Given the description of an element on the screen output the (x, y) to click on. 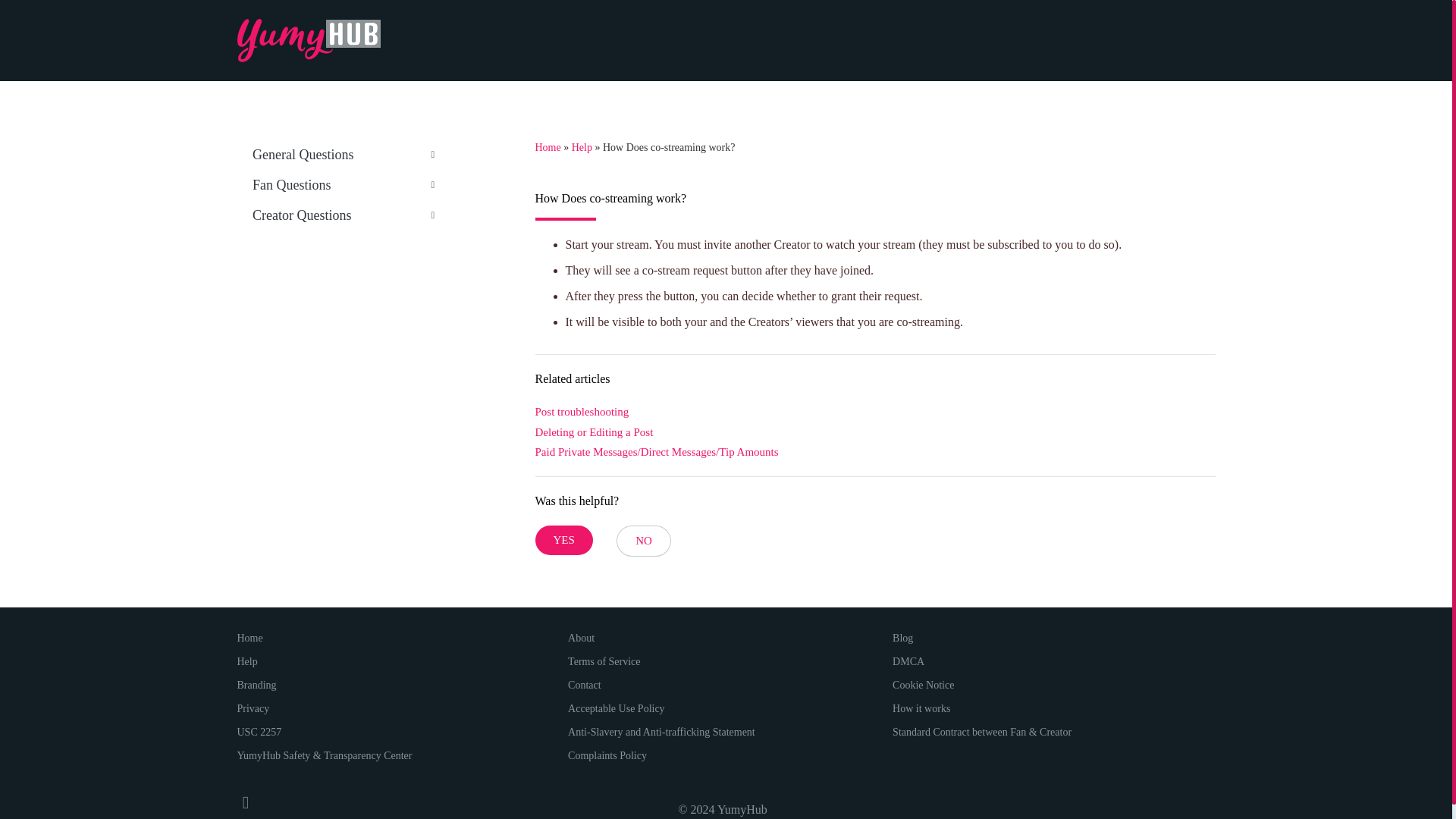
General Questions (341, 154)
Post troubleshooting (581, 411)
Help (582, 147)
Creator Questions (341, 214)
Fan Questions (341, 184)
Deleting or Editing a Post (594, 432)
Home (547, 147)
